Given the description of an element on the screen output the (x, y) to click on. 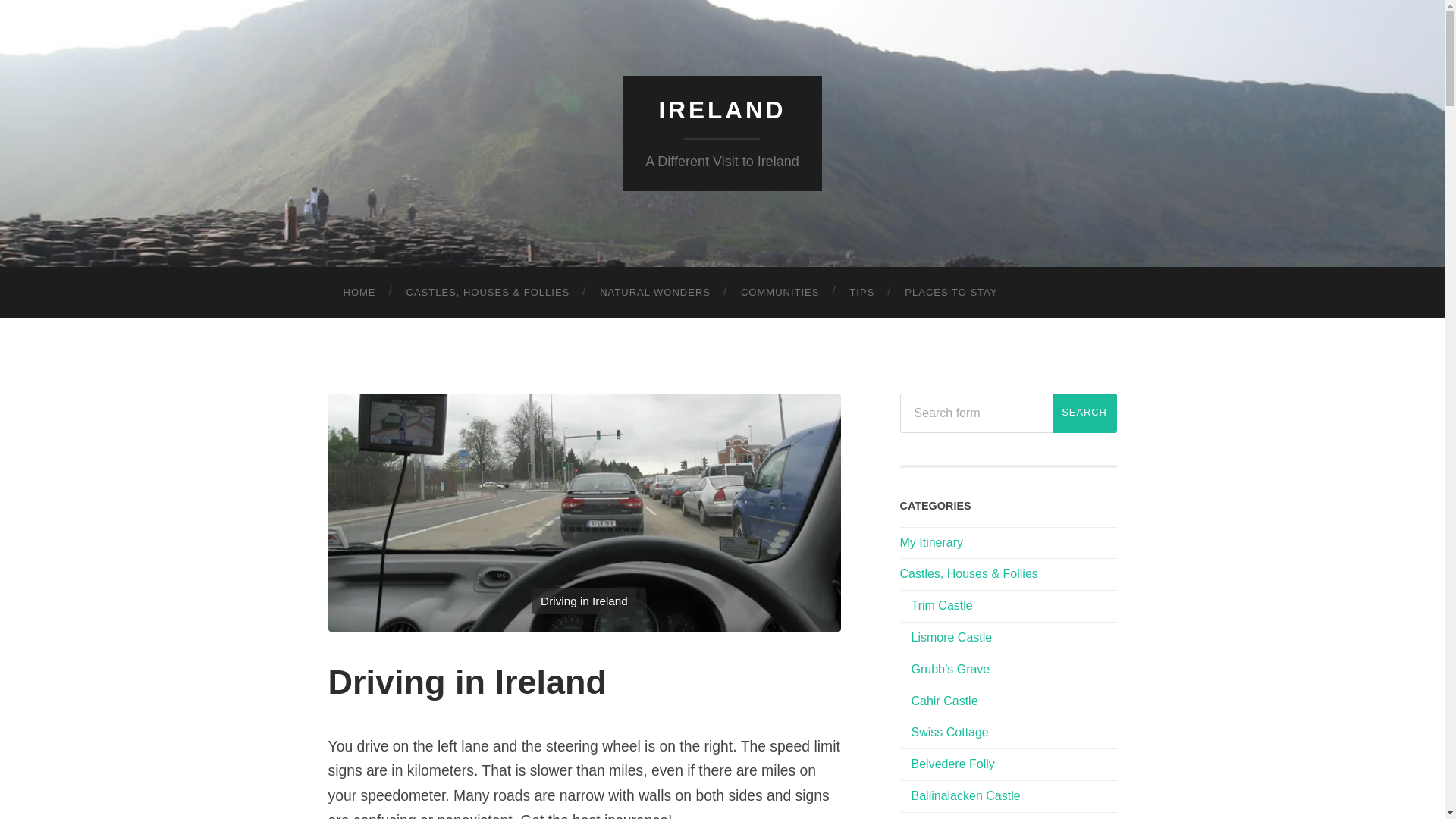
Driving in Ireland (583, 511)
TIPS (861, 291)
Driving in Ireland (583, 511)
Search (1084, 412)
Search (1084, 412)
COMMUNITIES (779, 291)
IRELAND (722, 109)
HOME (358, 291)
Driving in Ireland (467, 681)
Driving in Ireland (467, 681)
NATURAL WONDERS (655, 291)
PLACES TO STAY (950, 291)
